Given the description of an element on the screen output the (x, y) to click on. 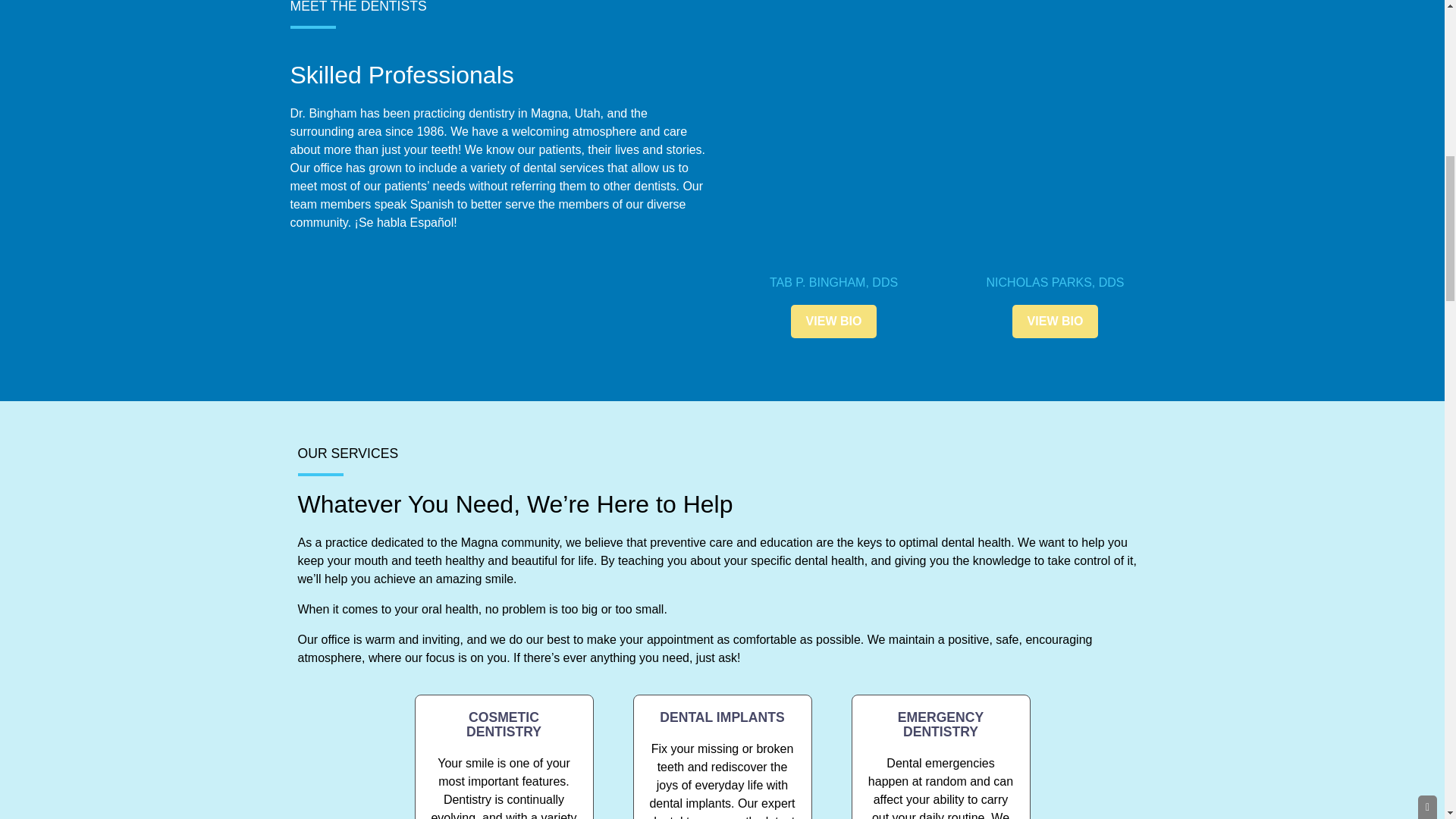
VIEW BIO (1055, 321)
NICHOLAS PARKS, DDS (1055, 282)
VIEW BIO (833, 321)
TAB P. BINGHAM, DDS (834, 282)
